Given the description of an element on the screen output the (x, y) to click on. 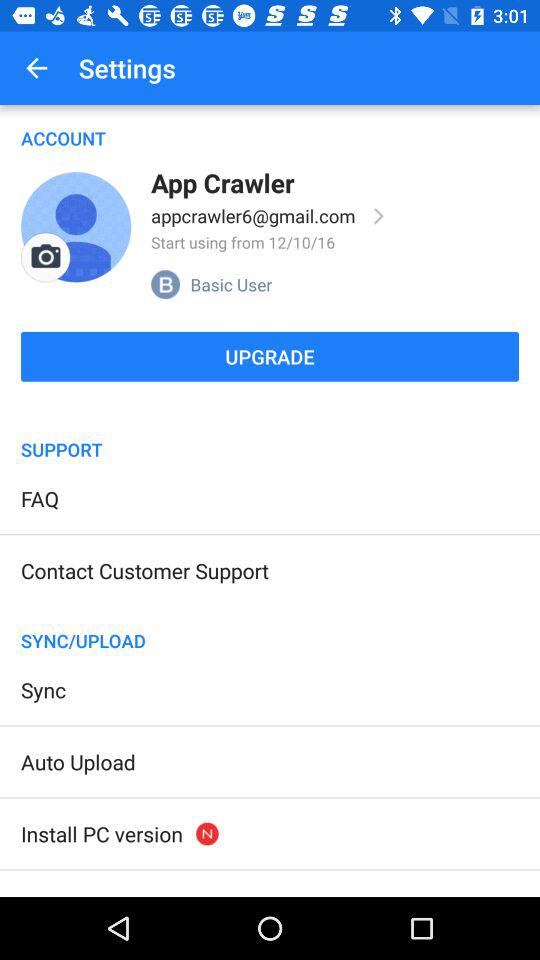
turn on the icon above the support (270, 411)
